Given the description of an element on the screen output the (x, y) to click on. 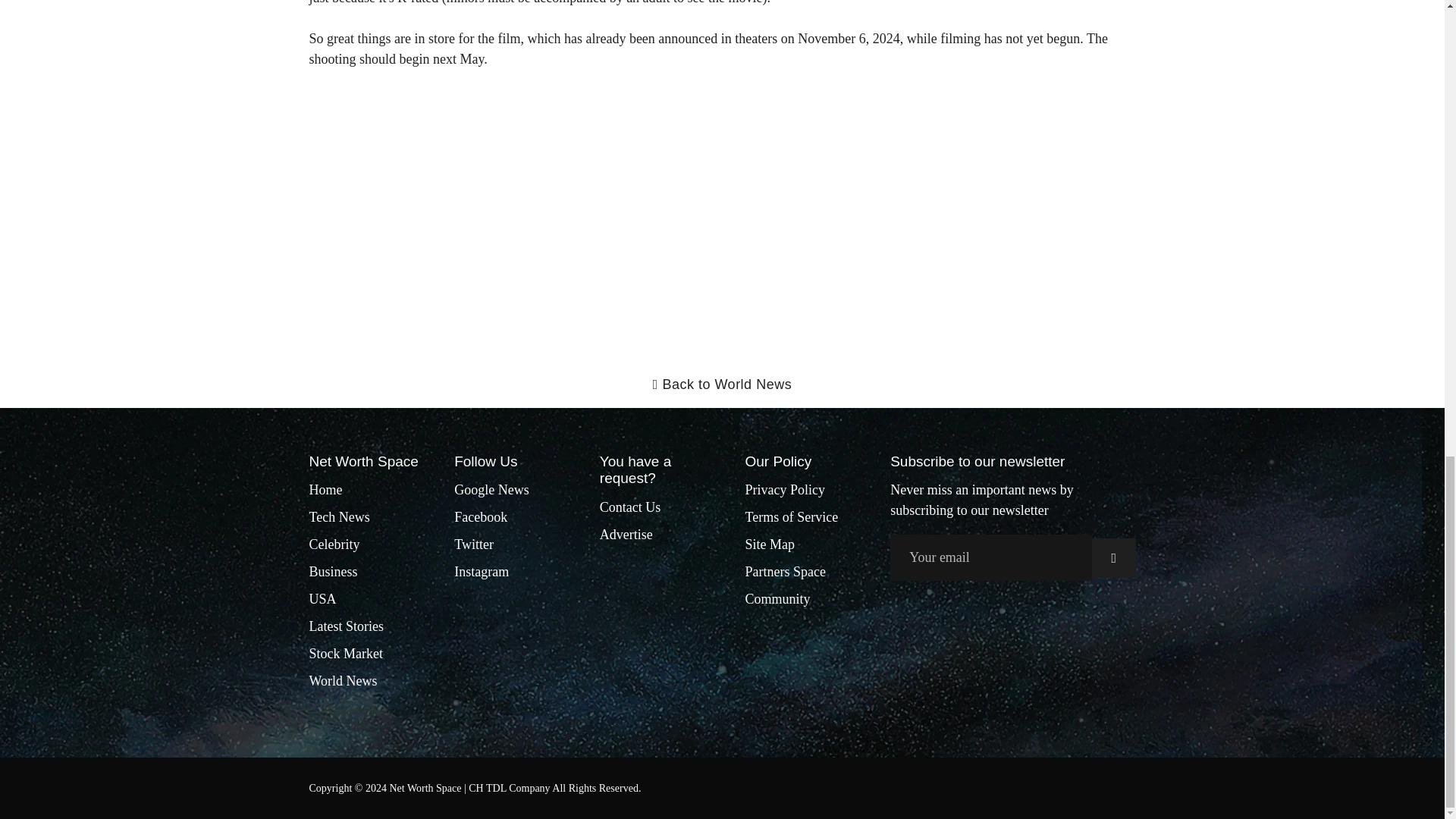
Home (325, 489)
World News (342, 680)
Stock Market (345, 653)
Tech News (338, 516)
Google News (491, 489)
Celebrity (333, 544)
Business (333, 571)
USA (322, 598)
Latest Stories (346, 626)
Facebook (480, 516)
